Given the description of an element on the screen output the (x, y) to click on. 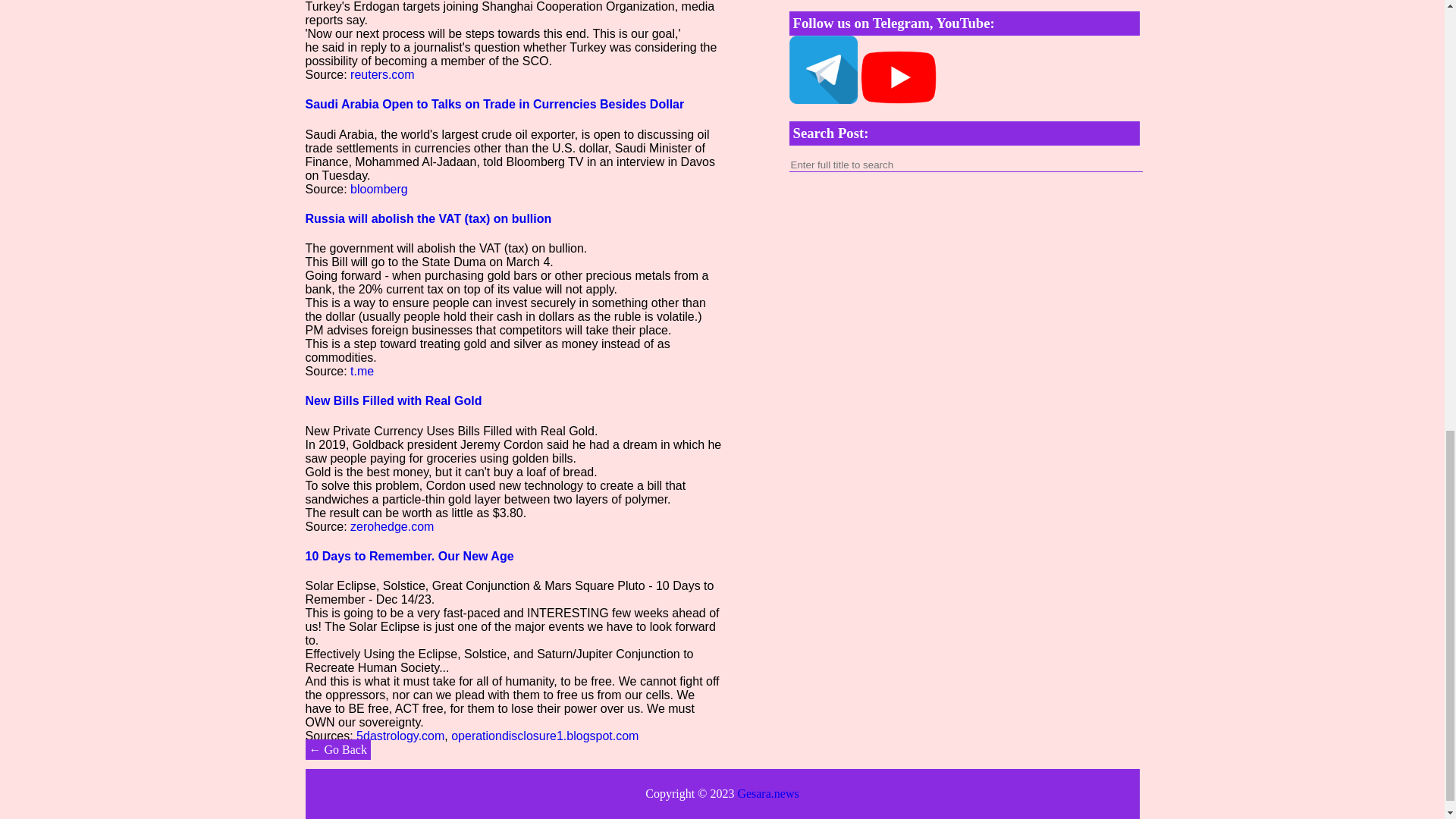
zerohedge.com (391, 526)
operationdisclosure1.blogspot.com (545, 735)
New Bills Filled with Real Gold (392, 400)
Gesara.news (766, 793)
bloomberg (378, 188)
reuters.com (381, 74)
5dastrology.com (400, 735)
10 Days to Remember. Our New Age (408, 555)
t.me (362, 370)
